Given the description of an element on the screen output the (x, y) to click on. 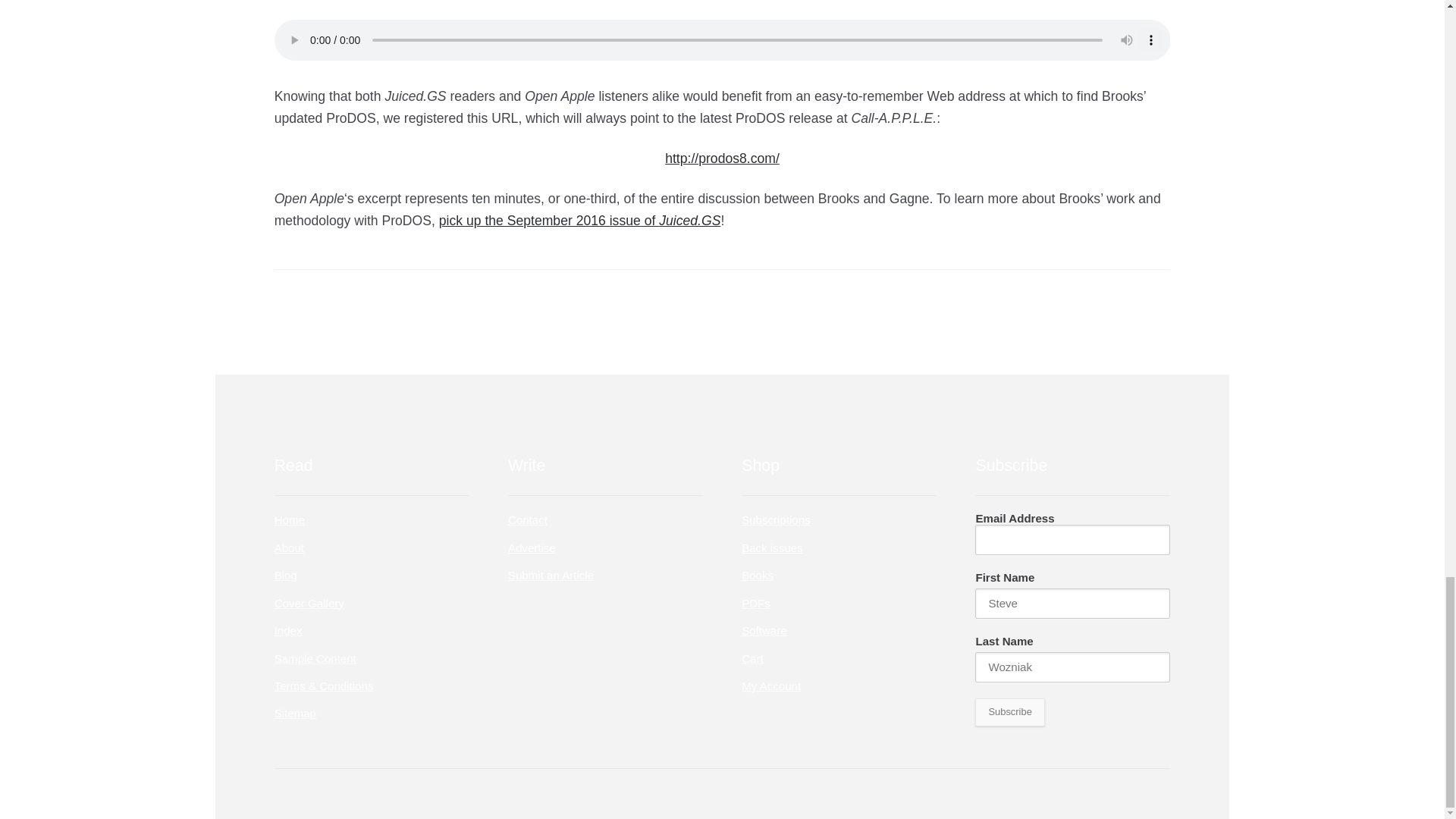
Subscribe (1009, 711)
